Given the description of an element on the screen output the (x, y) to click on. 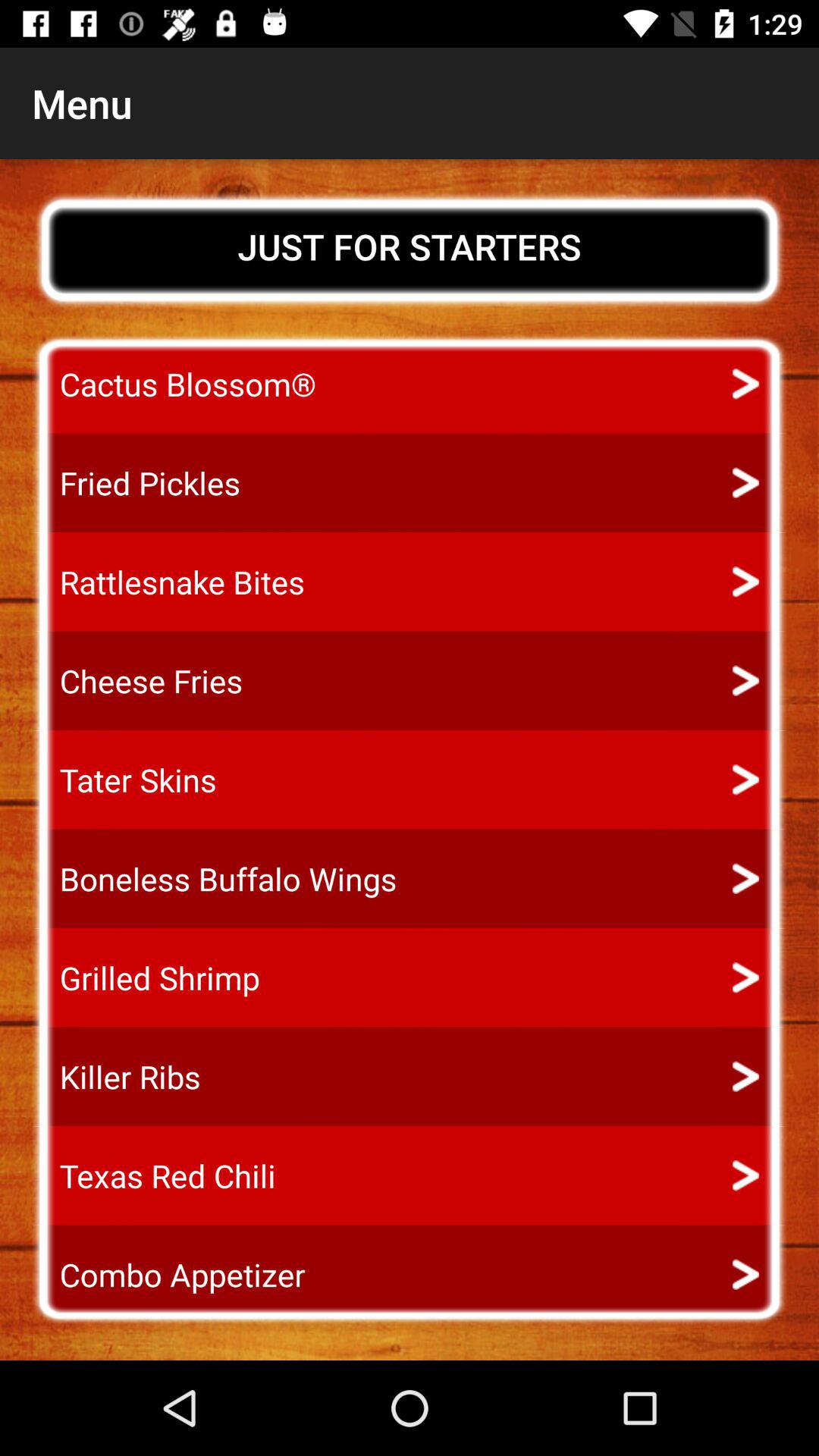
turn off item above the texas red chili item (115, 1076)
